Given the description of an element on the screen output the (x, y) to click on. 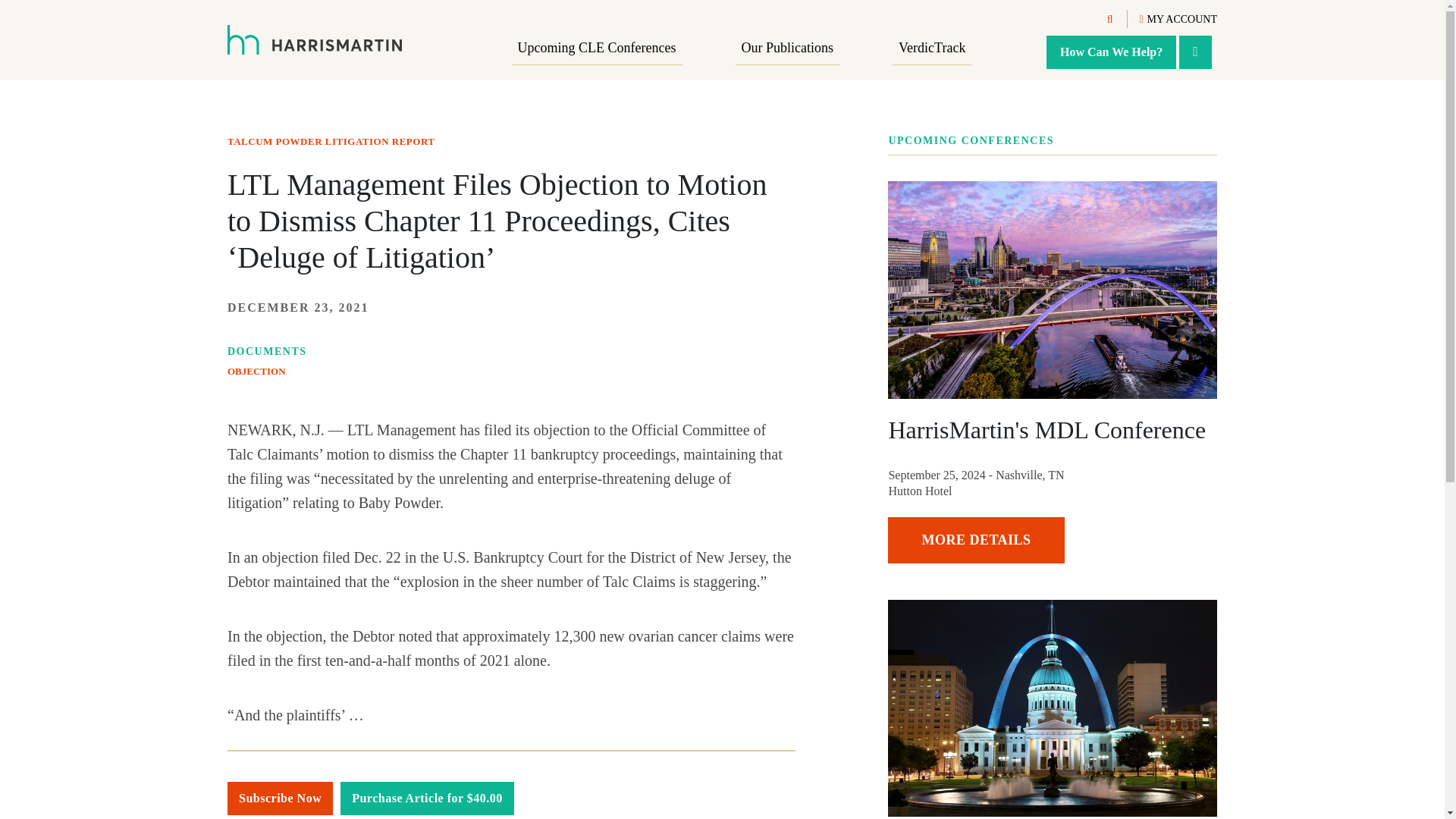
Upcoming CLE Conferences (597, 48)
Our Publications (787, 48)
VerdicTrack (931, 48)
MORE DETAILS (976, 539)
How Can We Help? (1111, 52)
TALCUM POWDER LITIGATION REPORT (331, 141)
Subscribe Now (280, 798)
MY ACCOUNT (1177, 19)
